Given the description of an element on the screen output the (x, y) to click on. 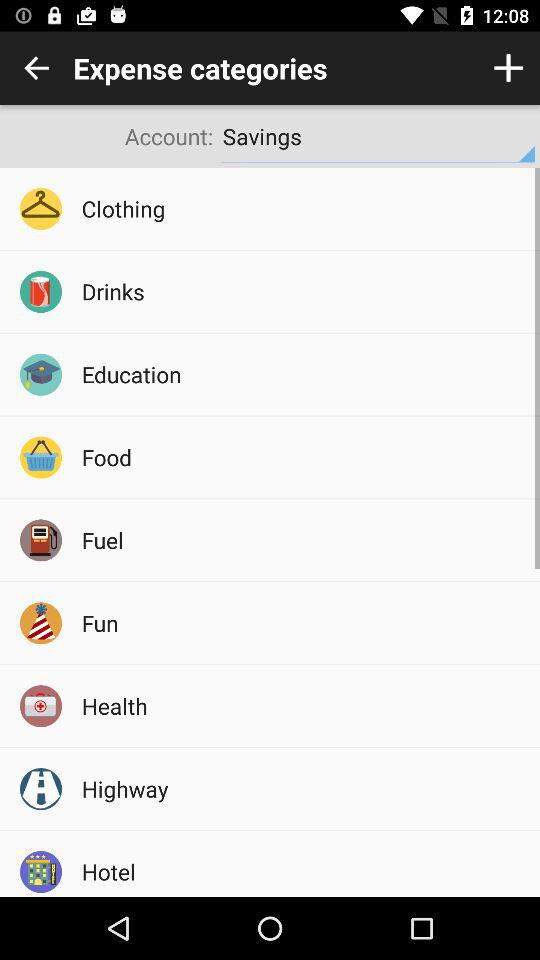
jump until hotel (303, 871)
